Given the description of an element on the screen output the (x, y) to click on. 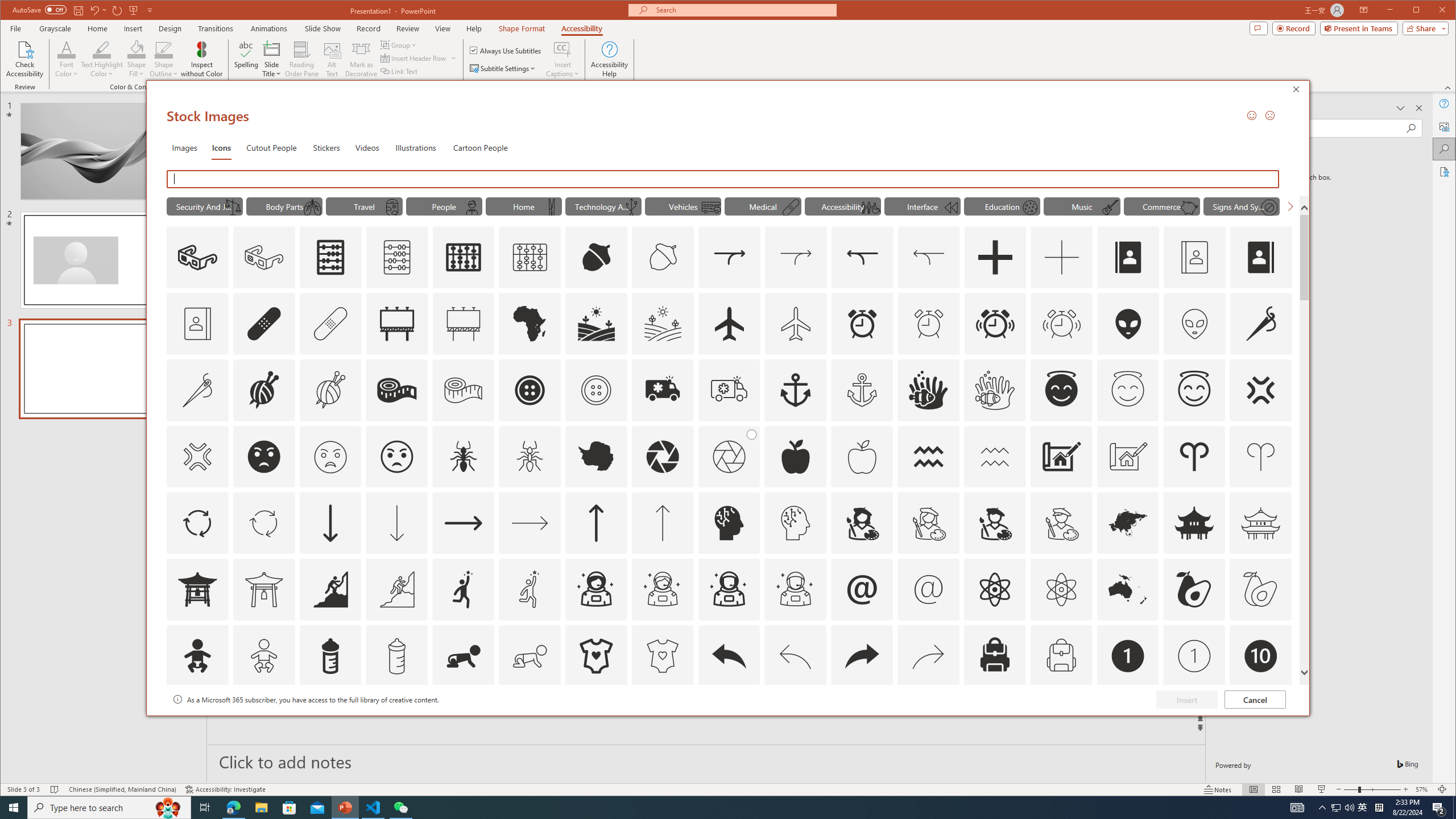
"Education" Icons. (1001, 206)
AutomationID: Icons_Apple_M (861, 456)
AutomationID: Icons_AsianTemple1 (197, 589)
Cartoon People (479, 147)
AutomationID: Icons_Aries_M (1260, 456)
AutomationID: Icons_AstronautFemale_M (662, 589)
AutomationID: Icons_Abacus (330, 256)
AutomationID: Icons_Australia (1128, 589)
